Given the description of an element on the screen output the (x, y) to click on. 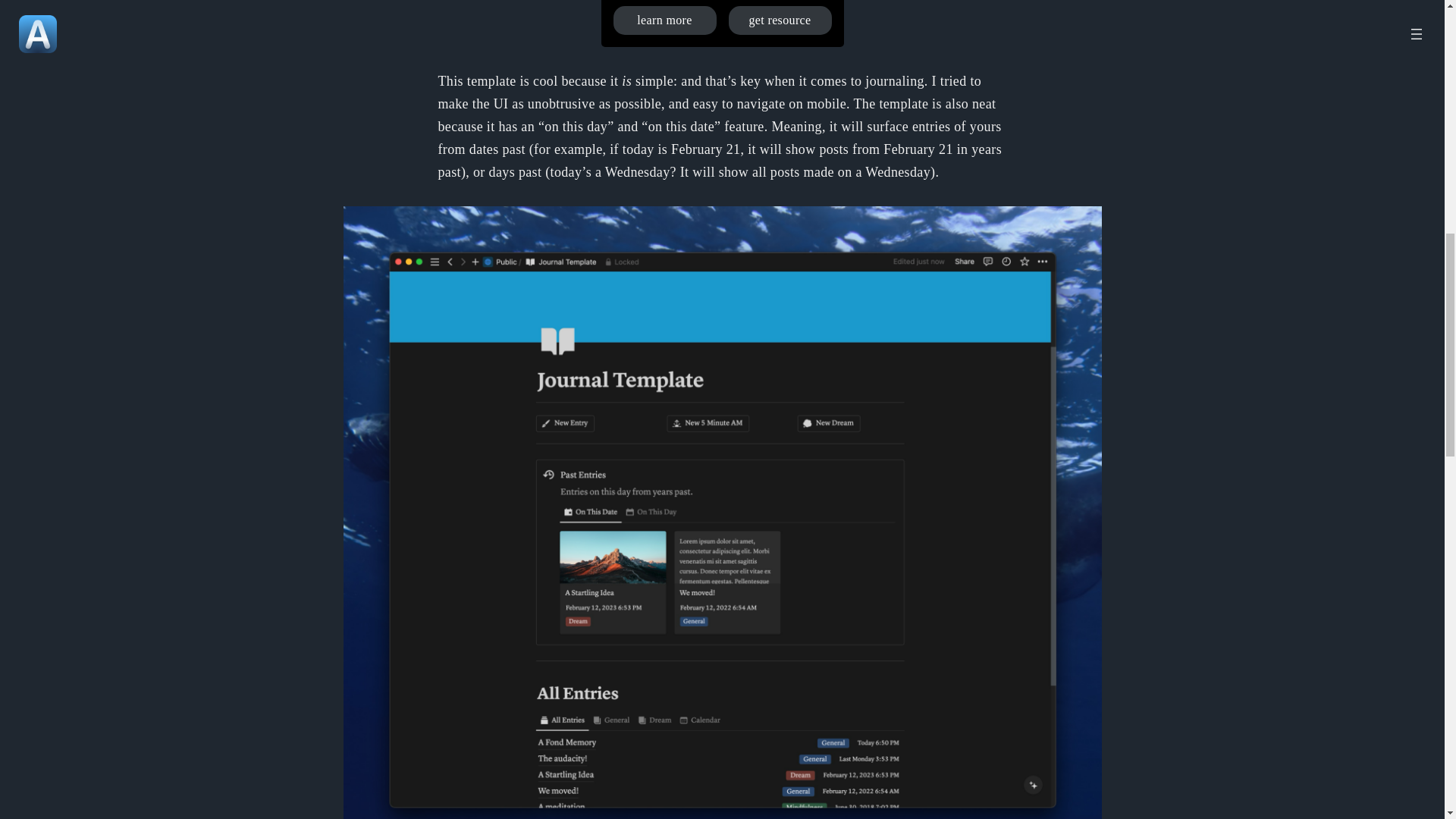
learn more (664, 20)
get resource (779, 20)
